Given the description of an element on the screen output the (x, y) to click on. 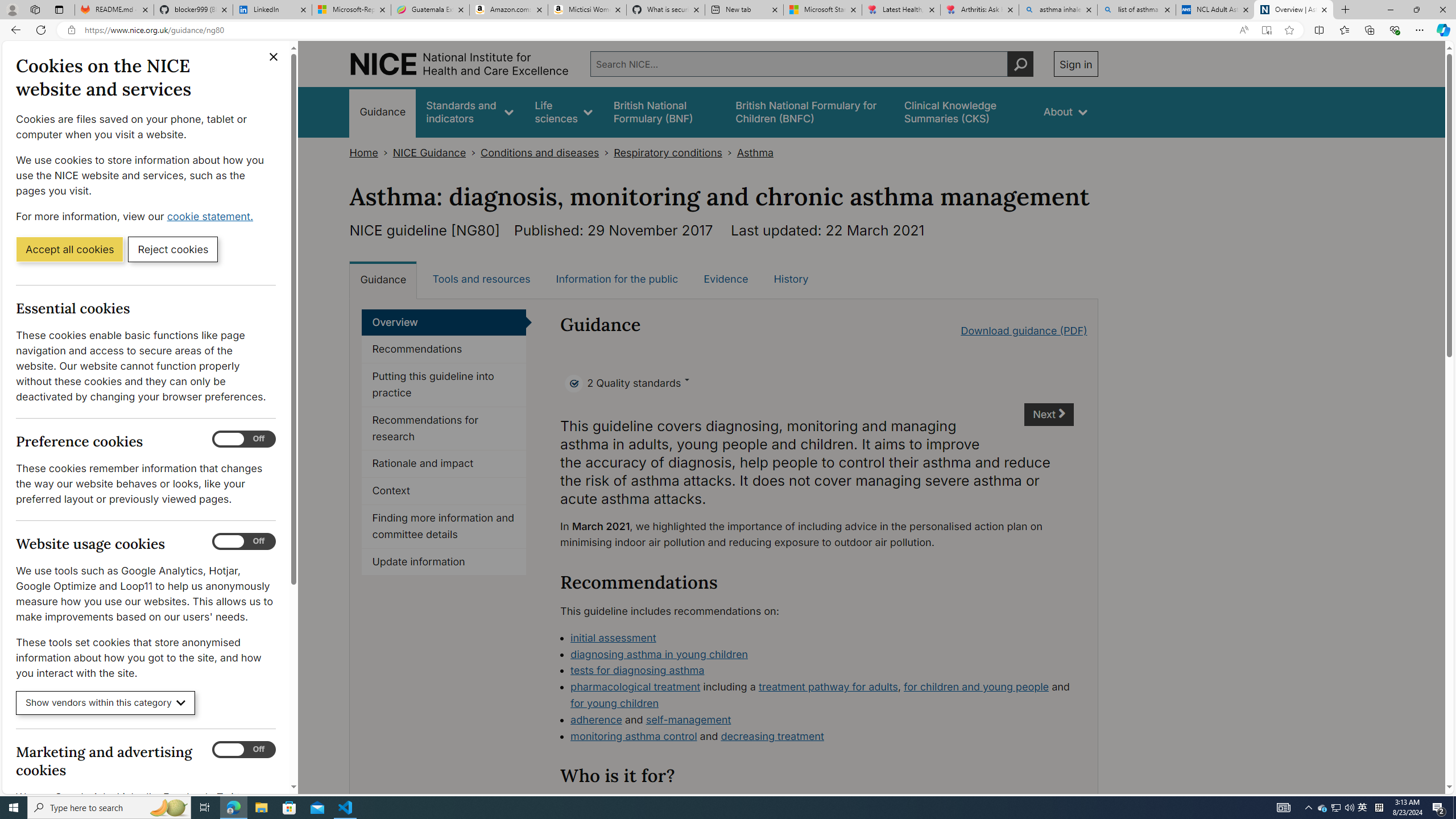
false (963, 111)
initial assessment (613, 637)
for young children (614, 702)
Close cookie banner (273, 56)
Show vendors within this category (105, 703)
Preference cookies (243, 438)
decreasing treatment (772, 735)
Home> (371, 152)
Evidence (725, 279)
Information for the public (617, 279)
